Given the description of an element on the screen output the (x, y) to click on. 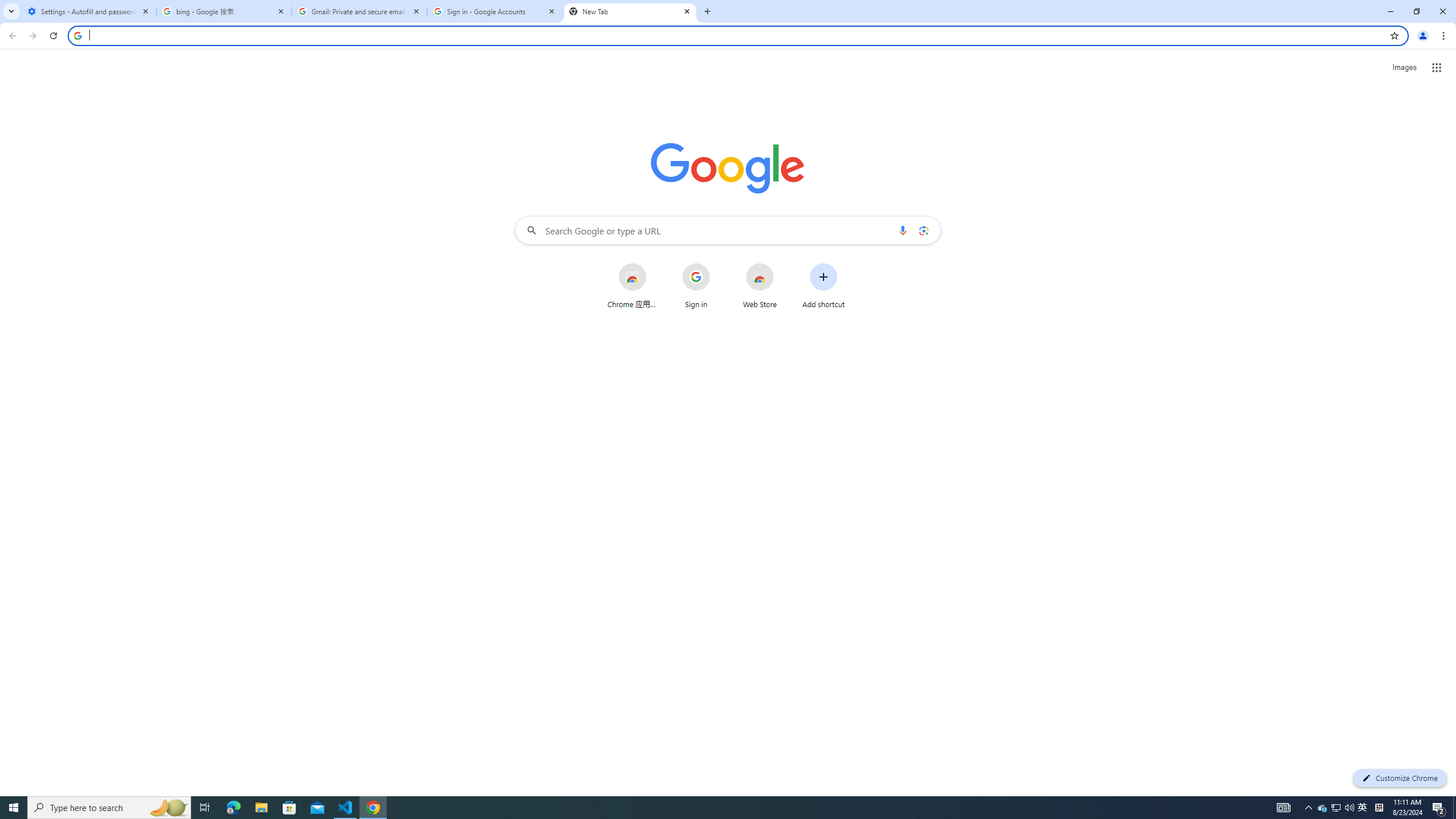
Settings - Autofill and passwords (88, 11)
New Tab (630, 11)
